Given the description of an element on the screen output the (x, y) to click on. 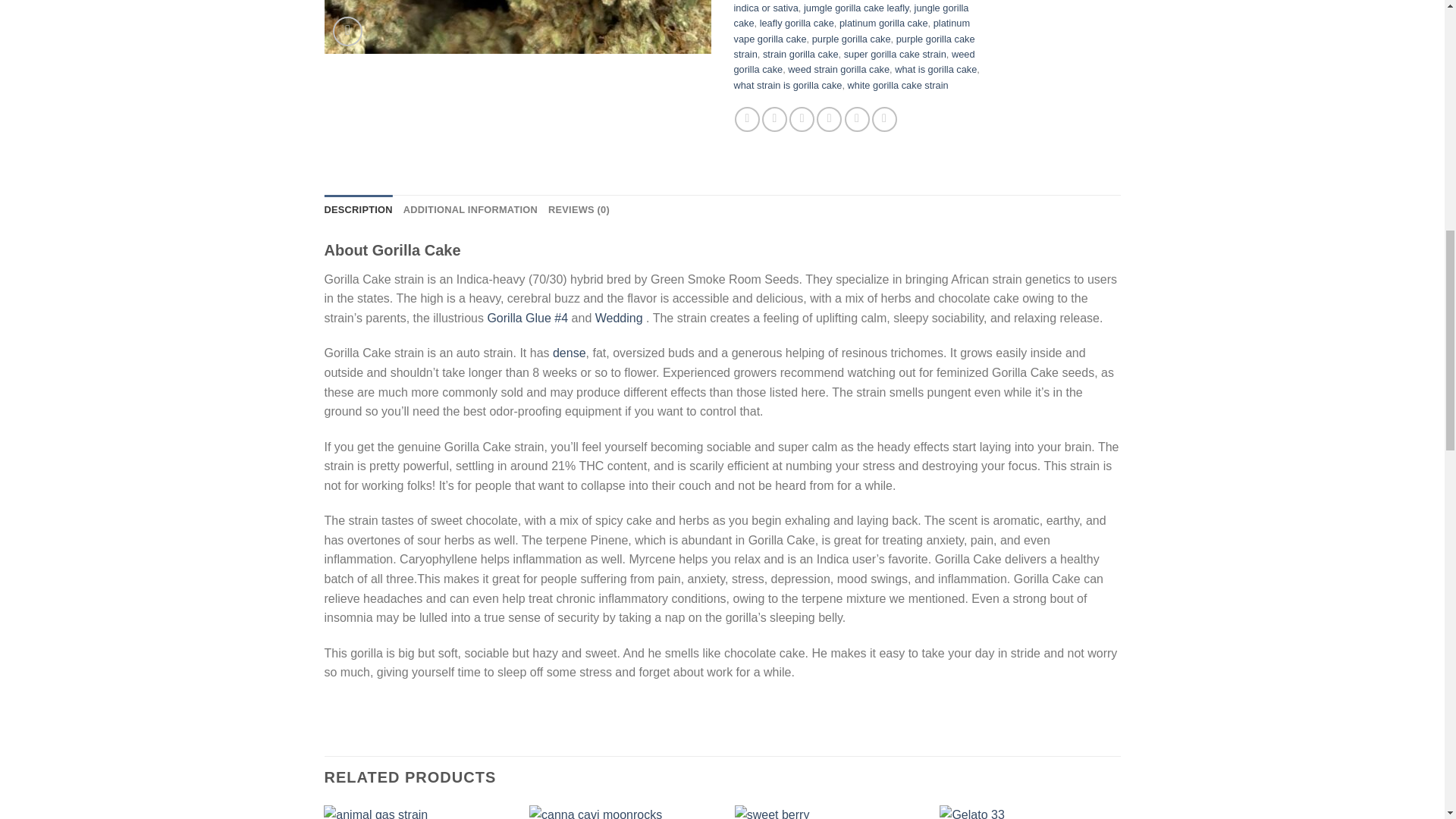
Share on Facebook (747, 119)
Zoom (347, 30)
Pin on Pinterest (828, 119)
Email to a Friend (801, 119)
Share on Tumblr (884, 119)
gorilla cake (517, 27)
Share on Twitter (774, 119)
Share on LinkedIn (856, 119)
